Given the description of an element on the screen output the (x, y) to click on. 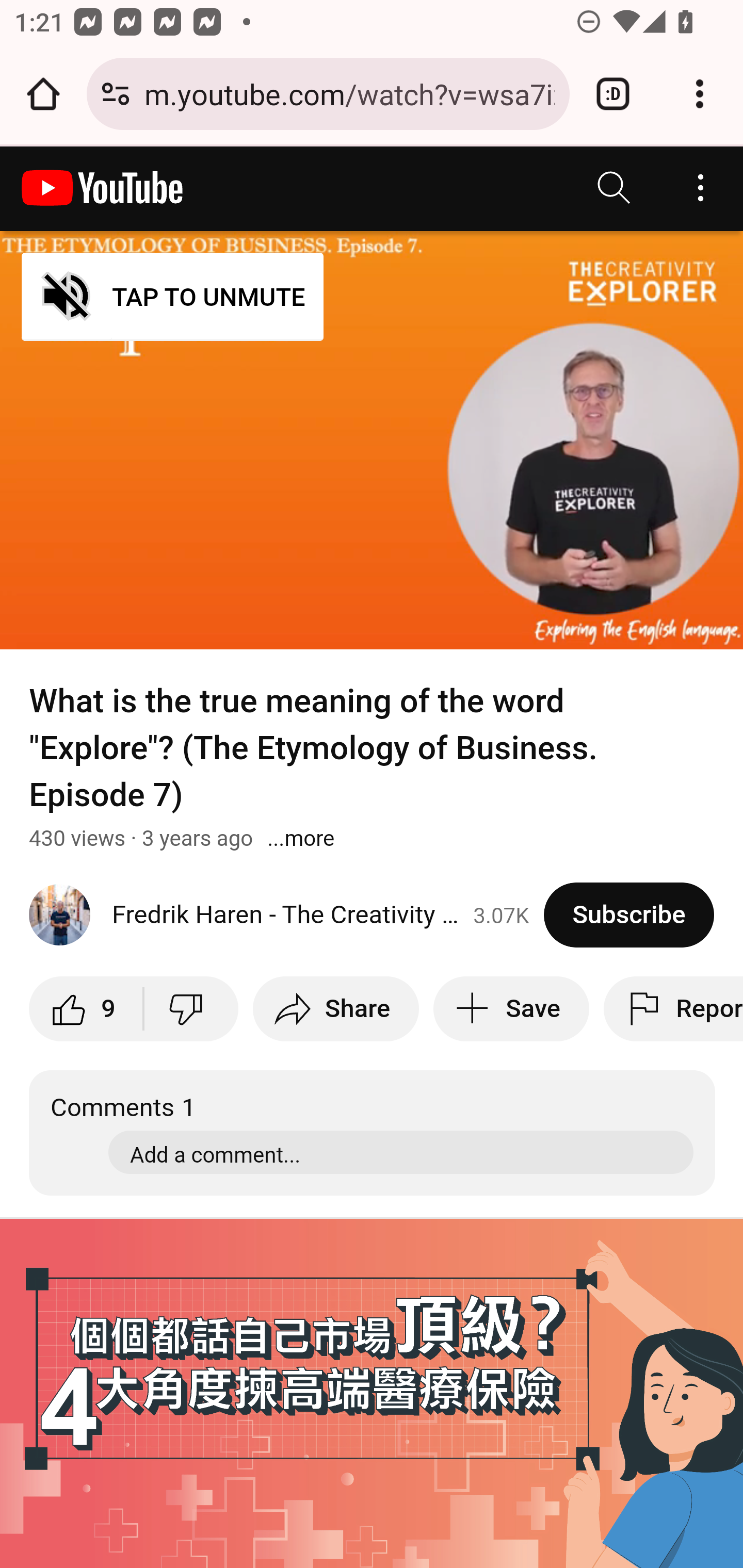
Open the home page (43, 93)
Connection is secure (115, 93)
Switch or close tabs (612, 93)
Customize and control Google Chrome (699, 93)
m.youtube.com/watch?v=wsa7izOANe0 (349, 92)
YouTube (102, 188)
Search YouTube (614, 188)
Account (700, 188)
TAP TO UNMUTE (173, 296)
Show more (301, 837)
Fredrik Haren - The Creativity Explorer (286, 914)
like this video along with 9 other people (86, 1008)
Dislike this video (190, 1008)
Share (335, 1008)
Save to playlist (511, 1008)
Report (673, 1008)
Comments (372, 1131)
